Given the description of an element on the screen output the (x, y) to click on. 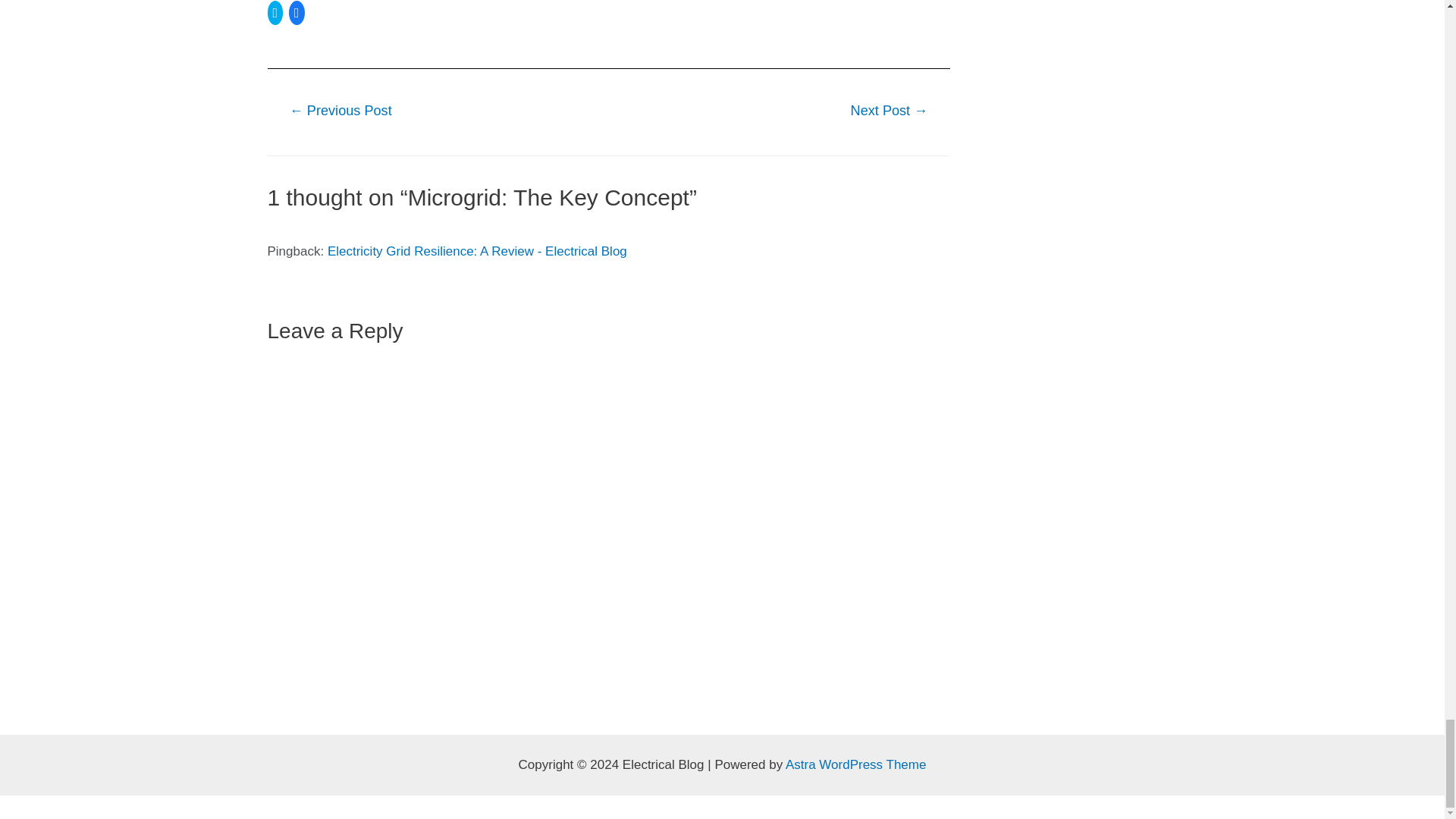
Astra WordPress Theme (856, 764)
Electricity Grid Resilience: A Review - Electrical Blog (477, 251)
Induction Motor: A Review (888, 111)
